Given the description of an element on the screen output the (x, y) to click on. 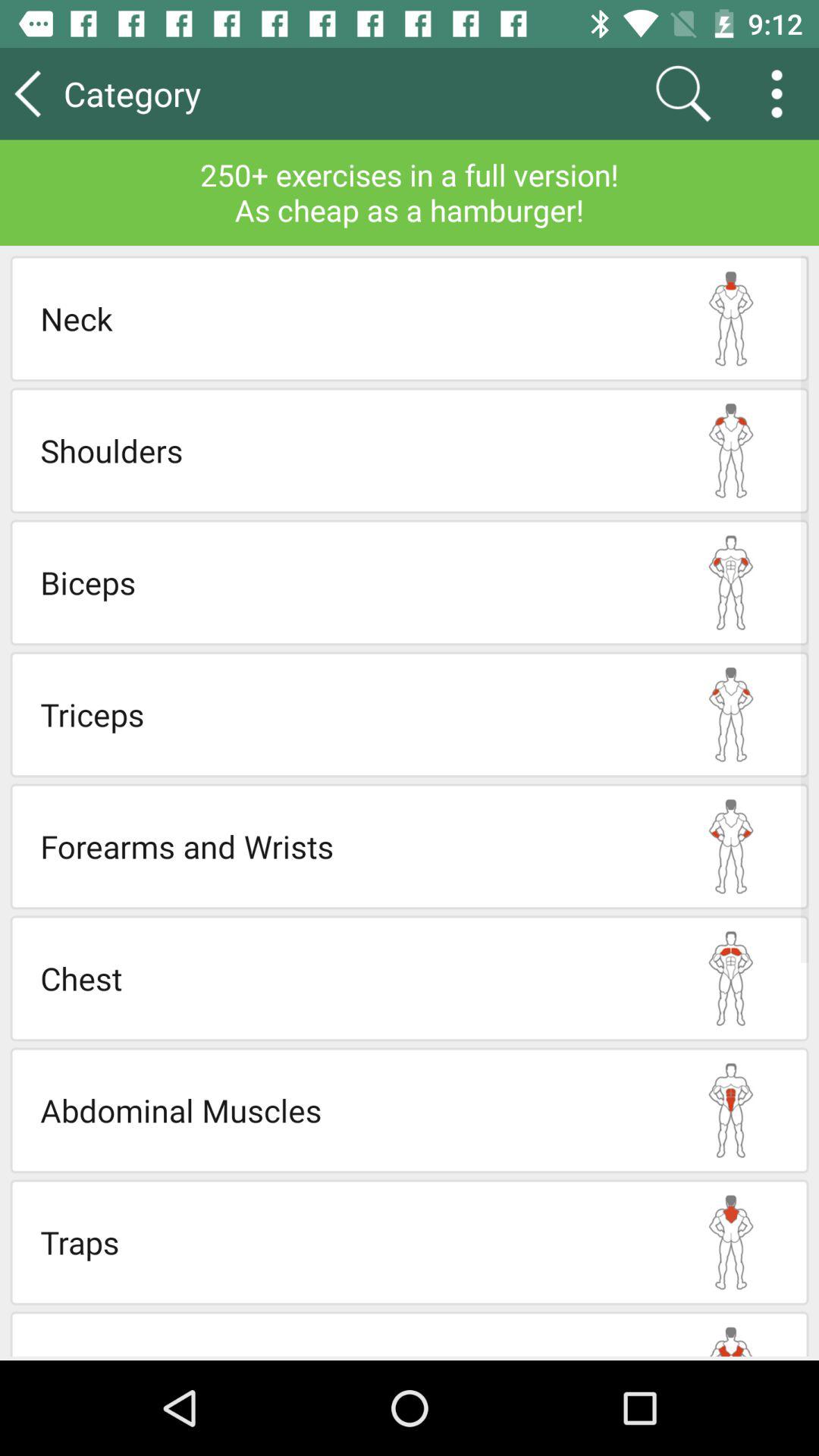
jump to the forearms and wrists app (346, 846)
